Given the description of an element on the screen output the (x, y) to click on. 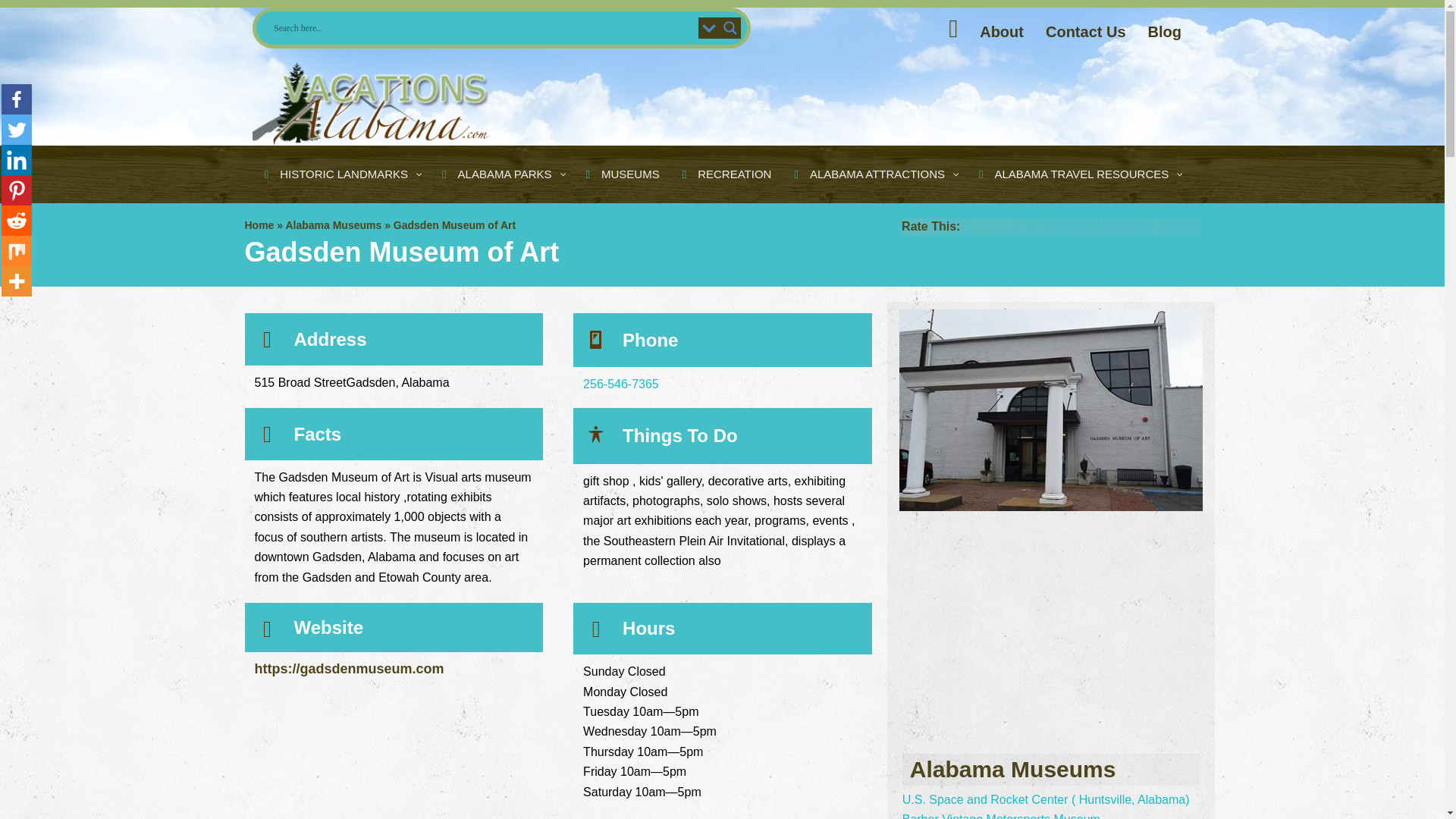
Twitter (16, 129)
Linkedin (16, 159)
Advertisement (798, 105)
About (1001, 32)
Pinterest (16, 190)
Reddit (16, 220)
Blog (1164, 32)
More (16, 281)
Facebook (16, 99)
Mix (16, 250)
